Given the description of an element on the screen output the (x, y) to click on. 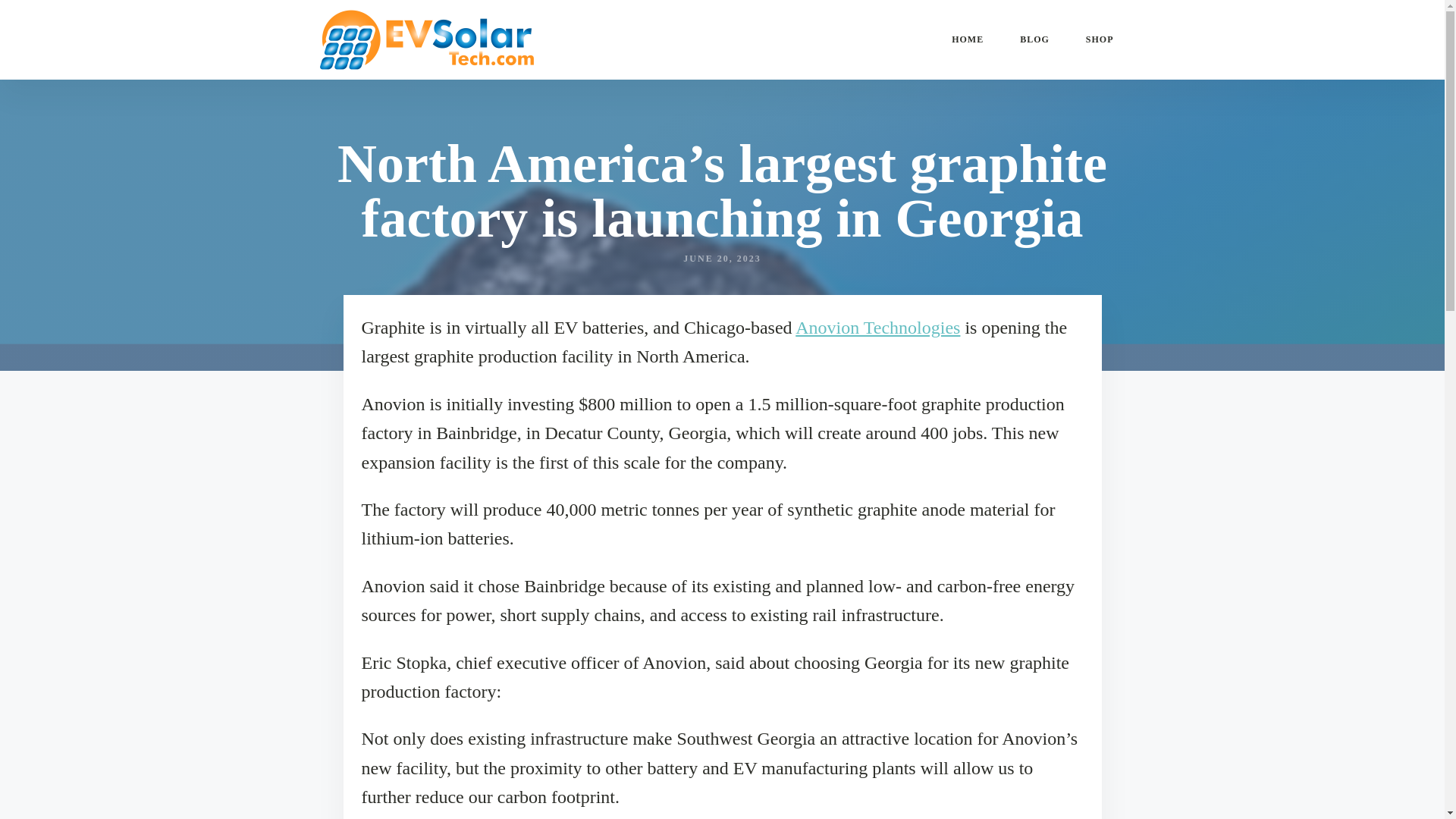
SHOP (1099, 39)
BLOG (1034, 39)
HOME (967, 39)
Anovion Technologies (876, 327)
